Given the description of an element on the screen output the (x, y) to click on. 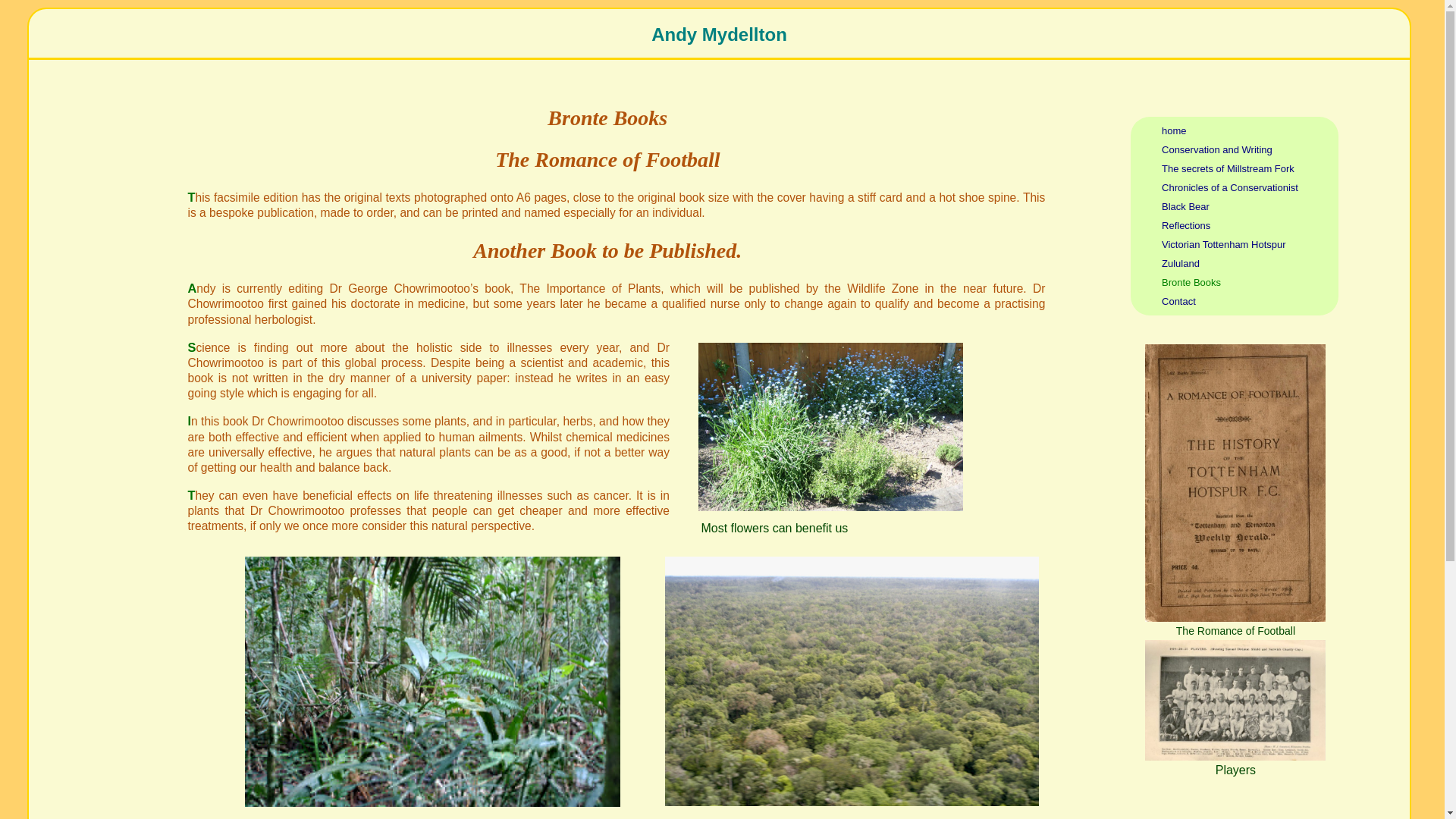
Chronicles of a Conservationist (1229, 187)
Black Bear (1185, 206)
Reflections (1185, 225)
Reflections (1185, 225)
Victorian Tottenham Hotspur (1223, 244)
Conservation and Writing (1216, 149)
home (1173, 130)
Zululand (1180, 263)
The secrets of Millstream Fork (1227, 168)
Contact (1178, 301)
